Given the description of an element on the screen output the (x, y) to click on. 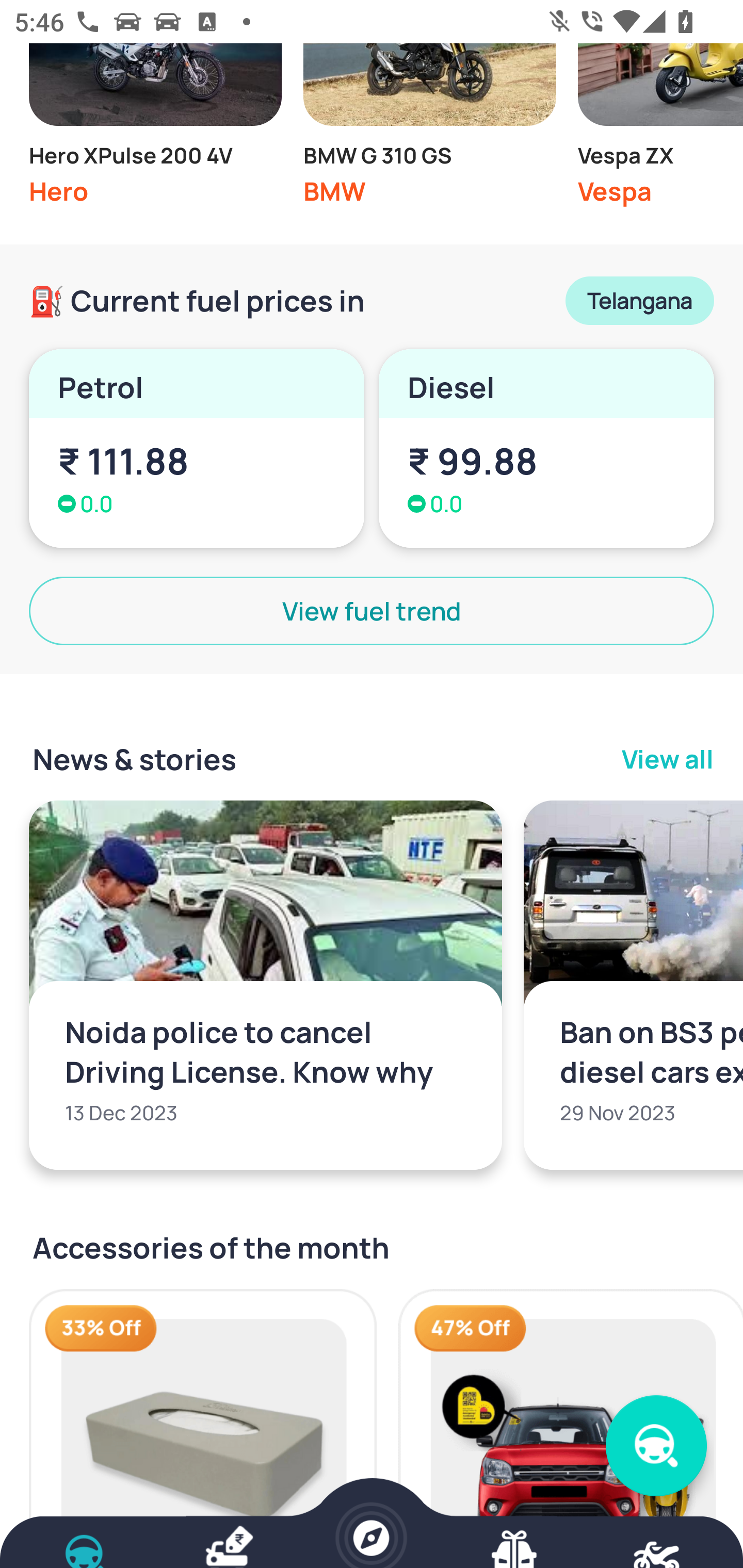
Hero XPulse 200 4V Hero (154, 129)
BMW G 310 GS BMW (429, 129)
Vespa ZX Vespa (660, 129)
Telangana (639, 299)
View fuel trend (371, 611)
View all (667, 758)
